Given the description of an element on the screen output the (x, y) to click on. 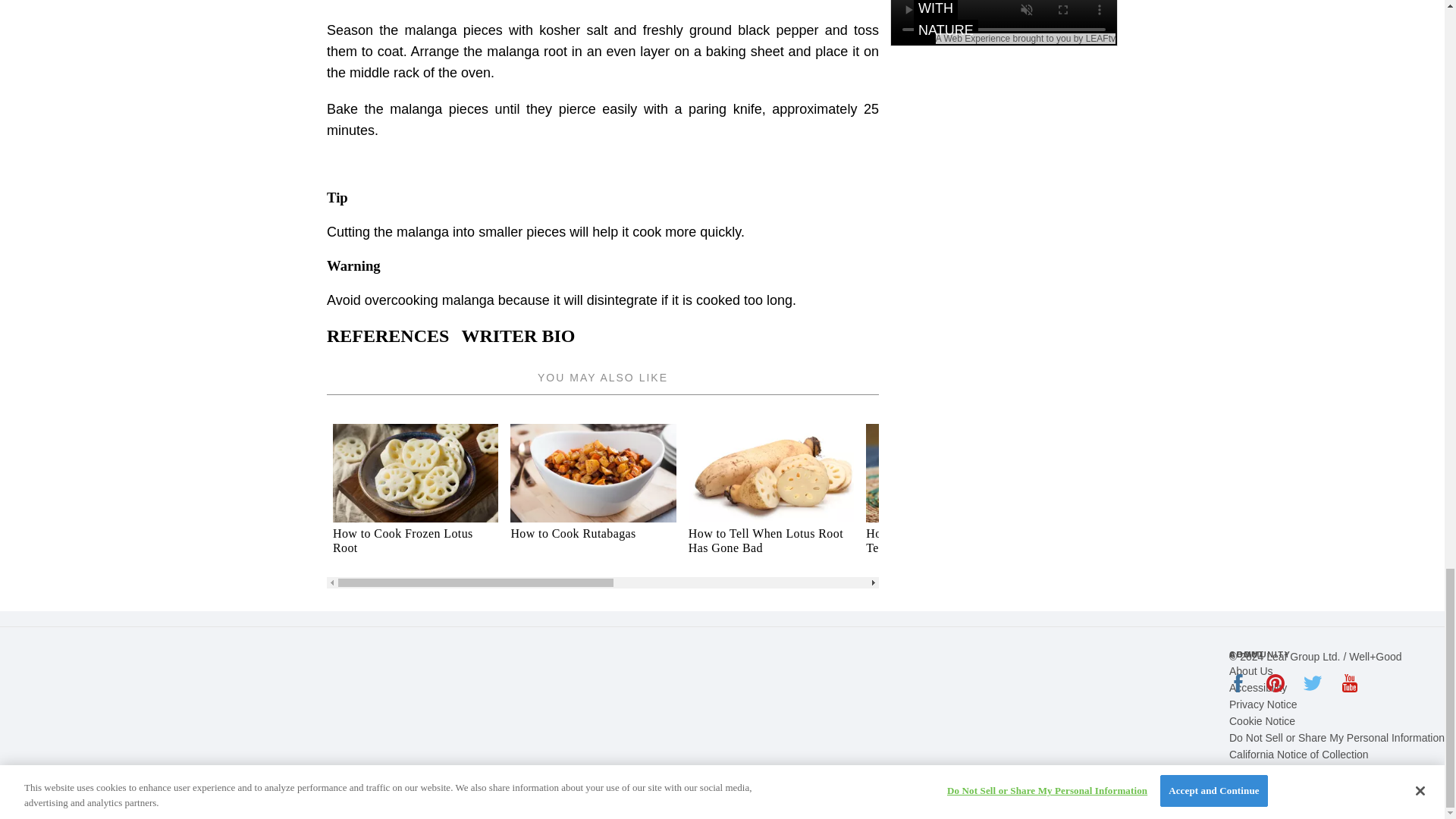
How to Make Dandelion Root Tea (948, 540)
How to Freeze Celeriac (1126, 533)
How to Eat Licorice Root (1304, 533)
How to Cook Frozen Lotus Root (415, 540)
How to Tell When Lotus Root Has Gone Bad (770, 499)
How to Cook Rutabagas (593, 499)
How to Make Dandelion Root Tea (948, 499)
How to Freeze Celeriac (1126, 499)
How to Cook Frozen Lotus Root (415, 499)
How to Cook Rutabagas (593, 533)
How to Tell When Lotus Root Has Gone Bad (770, 540)
How to Eat Licorice Root (1304, 499)
